Given the description of an element on the screen output the (x, y) to click on. 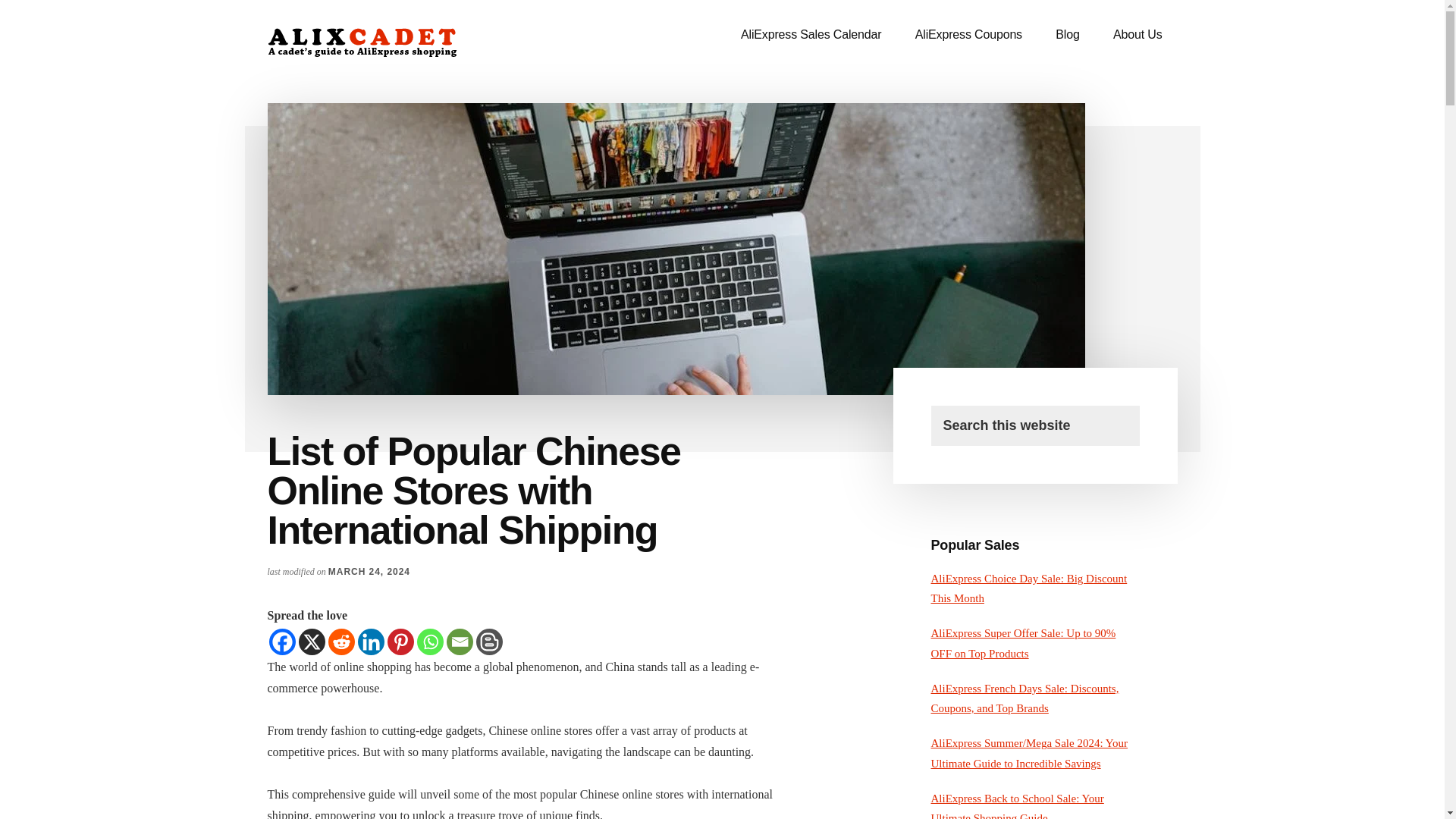
Linkedin (371, 641)
Reddit (340, 641)
Whatsapp (430, 641)
X (311, 641)
Blog (1067, 34)
Blogger Post (489, 641)
Pinterest (400, 641)
